Given the description of an element on the screen output the (x, y) to click on. 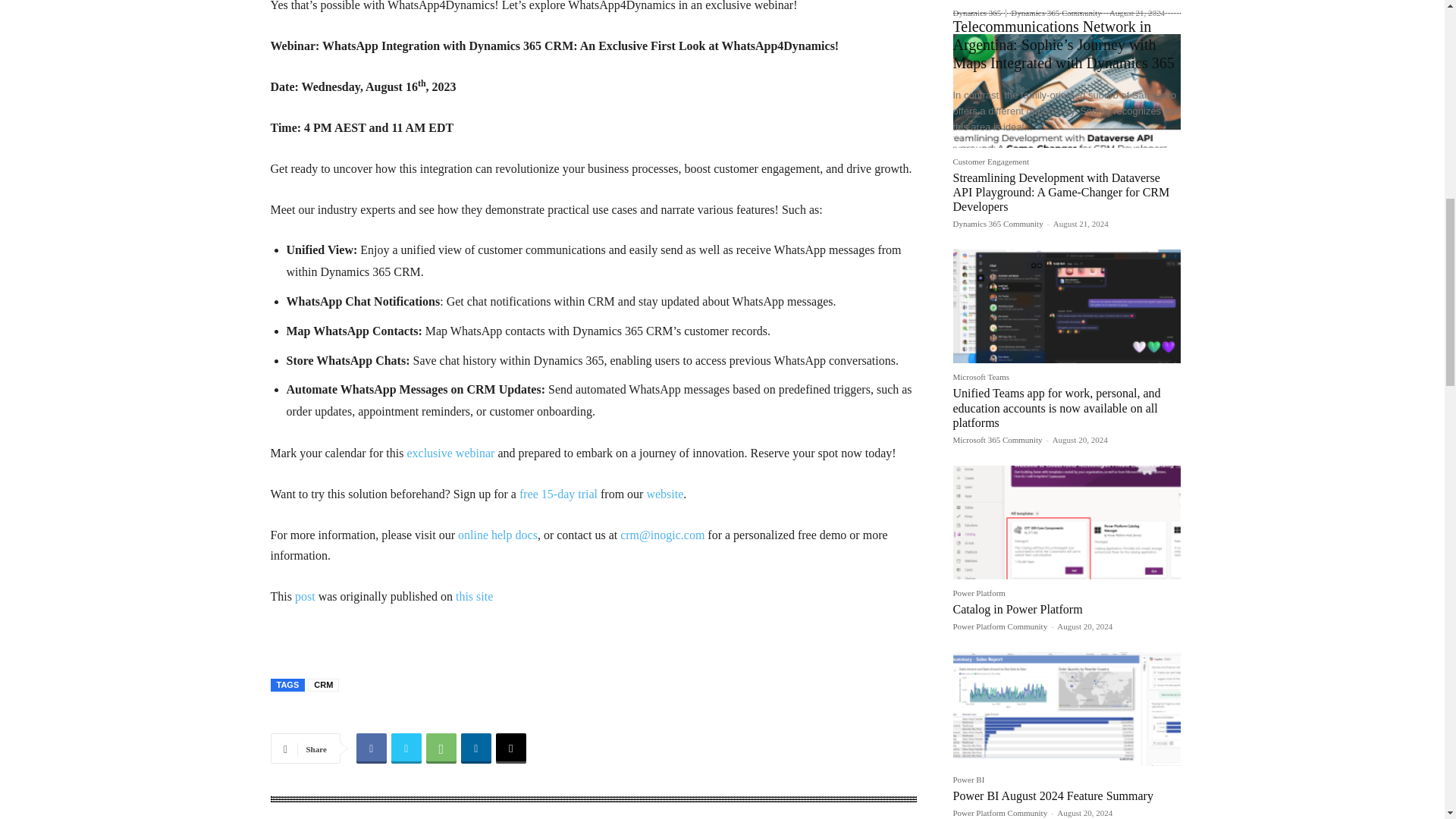
Facebook (371, 748)
WhatsApp (441, 748)
Twitter (406, 748)
